Given the description of an element on the screen output the (x, y) to click on. 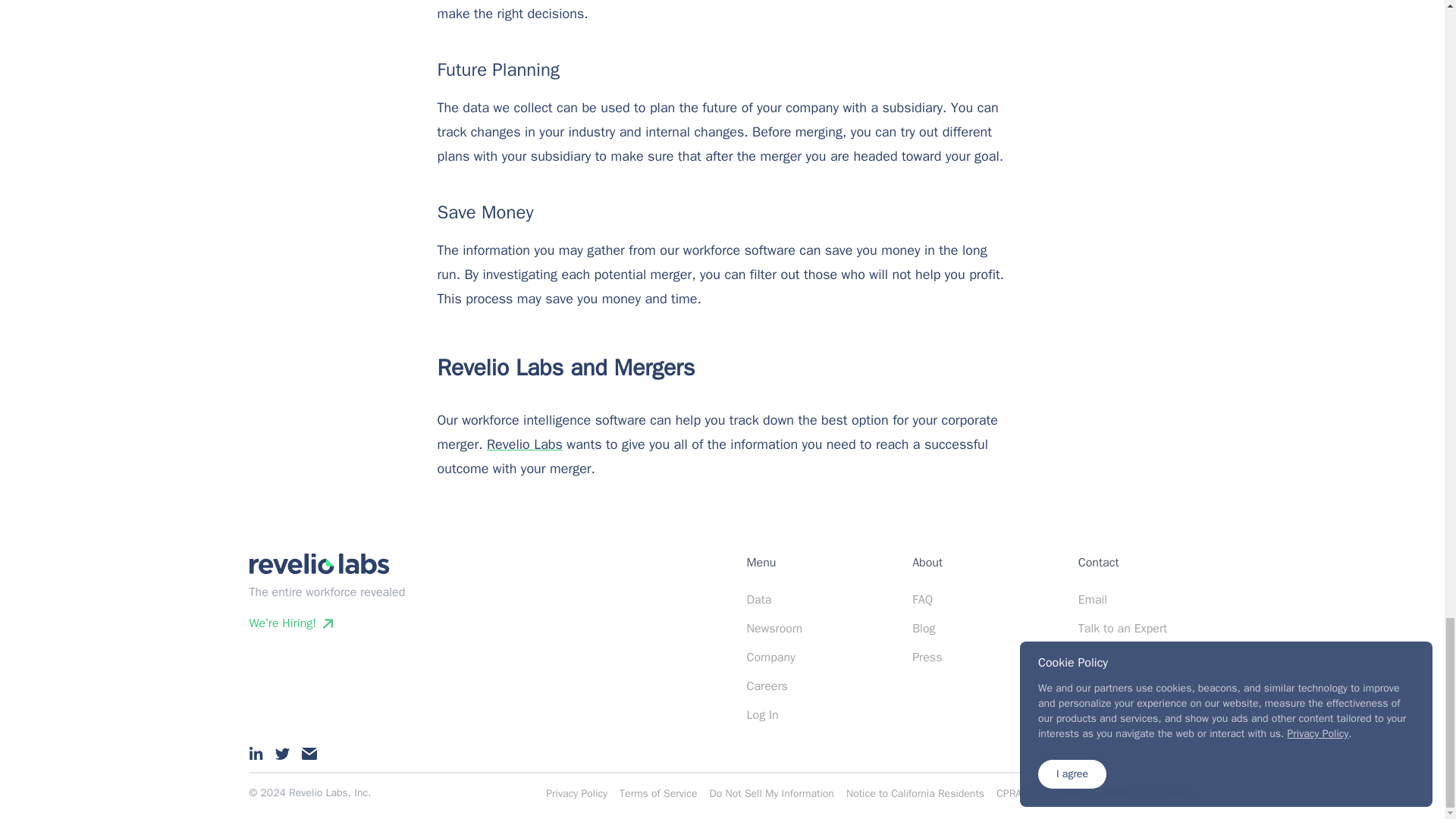
Notice to California Residents (914, 793)
Company (769, 657)
Blog (923, 628)
Careers (766, 685)
Do Not Sell My Information (770, 793)
Privacy Policy (576, 793)
GDPR Privacy Notice (1147, 793)
Email (1092, 599)
Data (758, 599)
Talk to an Expert (1122, 628)
Newsroom (773, 628)
Press (927, 657)
Terms of Service (658, 793)
Log In (761, 714)
FAQ (922, 599)
